Given the description of an element on the screen output the (x, y) to click on. 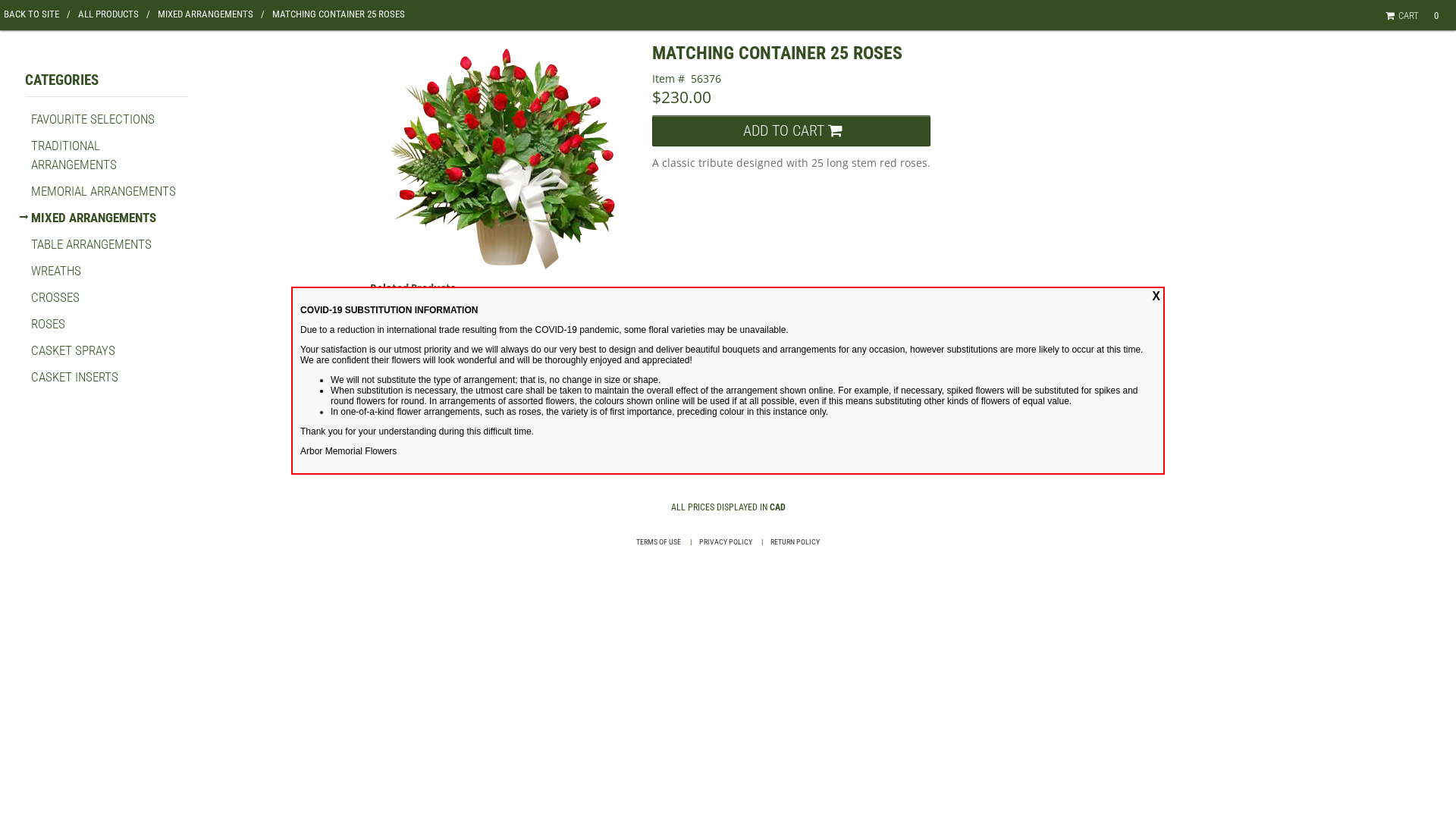
PRIVACY POLICY Element type: text (725, 541)
ALL PRODUCTS Element type: text (114, 13)
Click to Enlarge Element type: text (503, 159)
FAVOURITE SELECTIONS Element type: text (92, 118)
WREATHS Element type: text (56, 270)
BACK TO SITE Element type: text (36, 13)
TERMS OF USE Element type: text (658, 541)
CASKET SPRAYS Element type: text (73, 349)
TABLE ARRANGEMENTS Element type: text (91, 243)
MIXED ARRANGEMENTS Element type: text (210, 13)
CASKET INSERTS Element type: text (74, 376)
    Azalea Flowering Plant Element type: hover (465, 328)
              Vase Arrangement 30 Stem Mix Element type: hover (599, 328)
RETURN POLICY Element type: text (794, 541)
        Mixed Planter Small Element type: hover (398, 328)
CART Element type: text (1404, 15)
ROSES Element type: text (48, 323)
           Wicker Basket Mixed Flower Large Element type: hover (532, 328)
MIXED ARRANGEMENTS Element type: text (93, 217)
ADD TO CART Element type: text (791, 130)
MEMORIAL ARRANGEMENTS Element type: text (103, 190)
TRADITIONAL ARRANGEMENTS Element type: text (73, 155)
CROSSES Element type: text (55, 296)
